Given the description of an element on the screen output the (x, y) to click on. 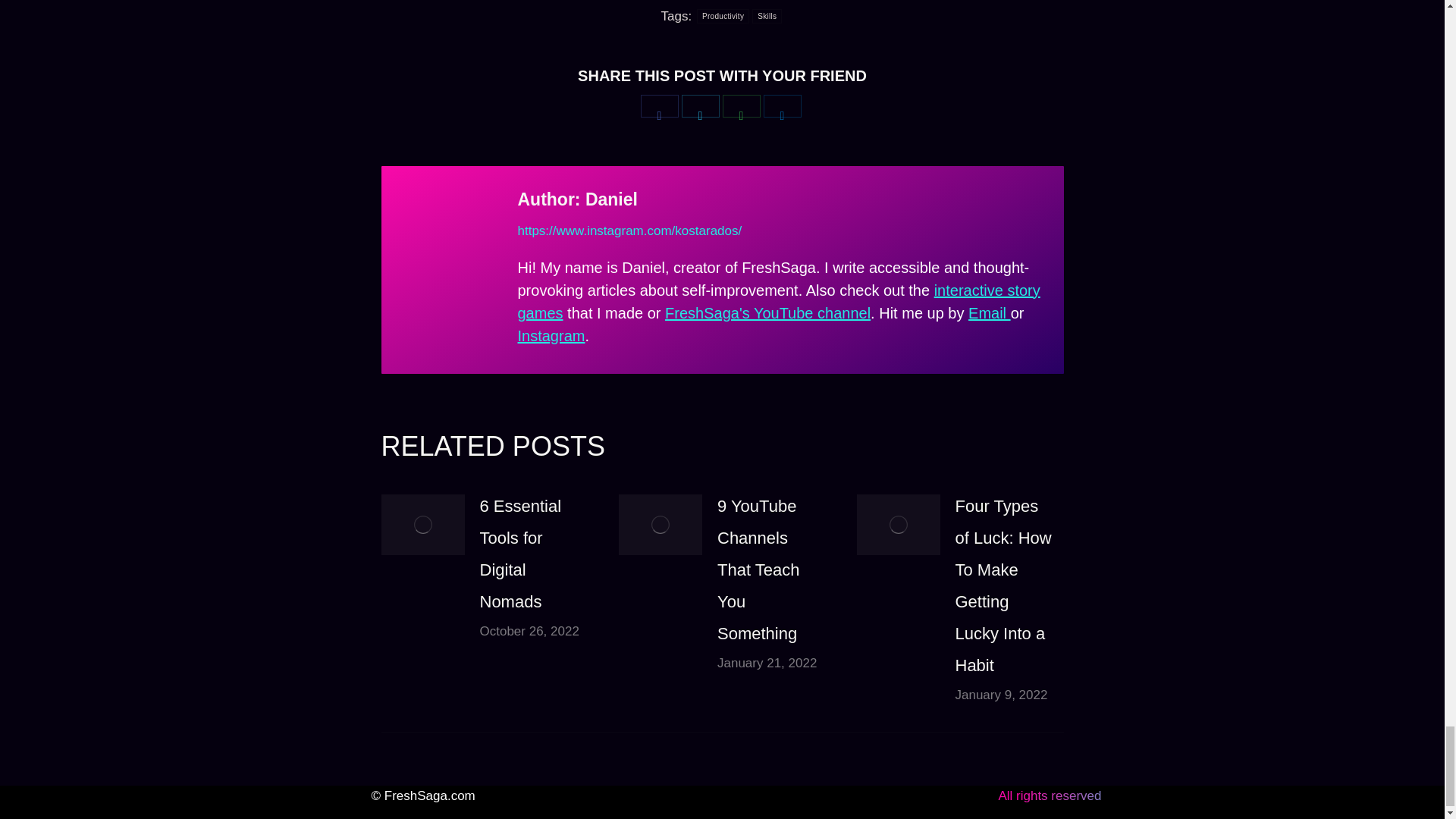
Facebook (659, 106)
WhatsApp (741, 106)
Twitter (700, 106)
